Given the description of an element on the screen output the (x, y) to click on. 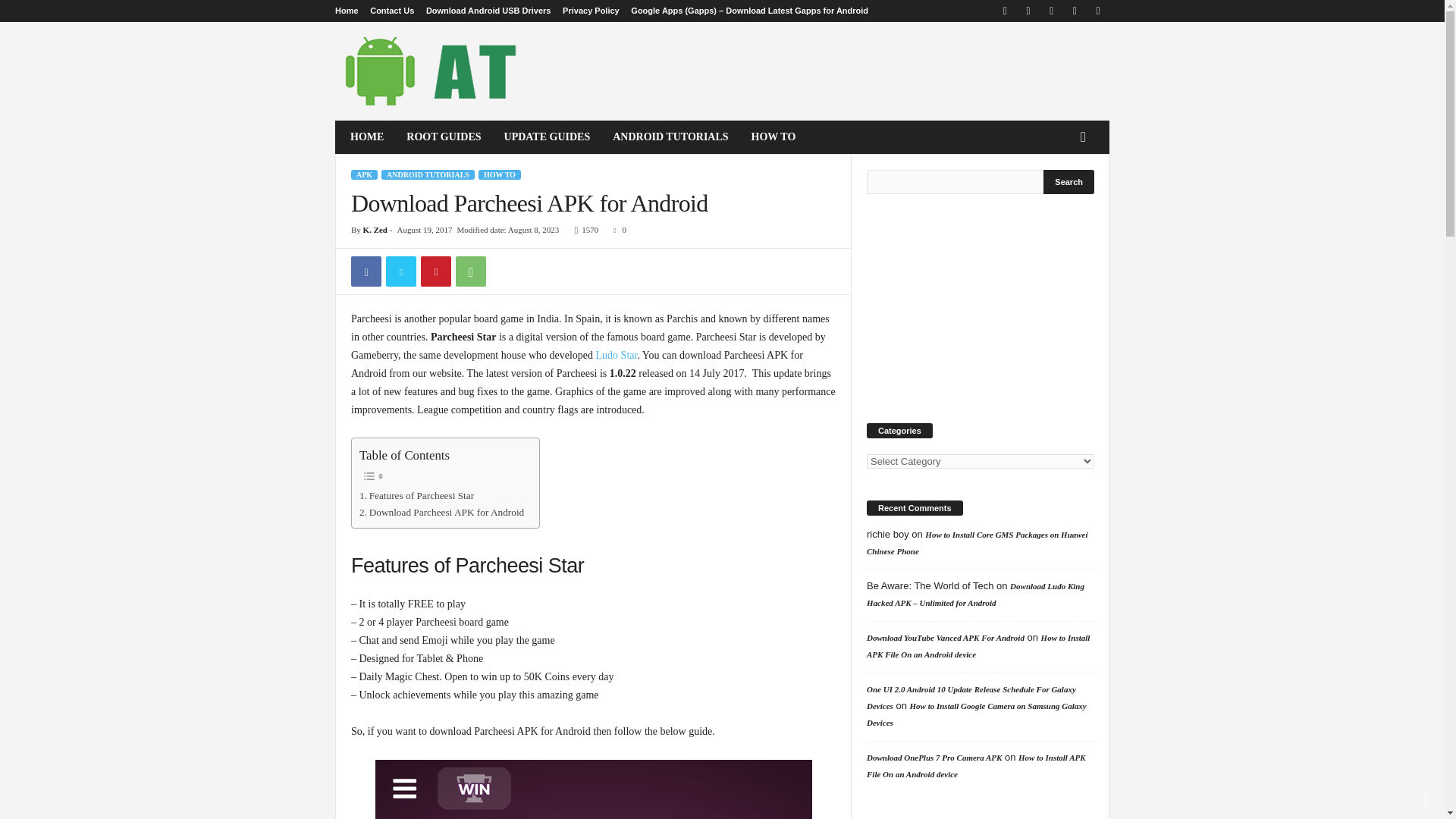
ANDROID TUTORIALS (670, 136)
ANDROID TUTORIALS (427, 174)
Contact Us (391, 10)
Android Tutorial (437, 70)
HOW TO (773, 136)
Privacy Policy (591, 10)
Search (1068, 181)
APK (363, 174)
UPDATE GUIDES (547, 136)
HOME (366, 136)
Download Android USB Drivers (488, 10)
HOW TO (500, 174)
0 (616, 229)
ROOT GUIDES (443, 136)
Android Tutorials, Rooting Guides, Update Android Tutorials (437, 70)
